Given the description of an element on the screen output the (x, y) to click on. 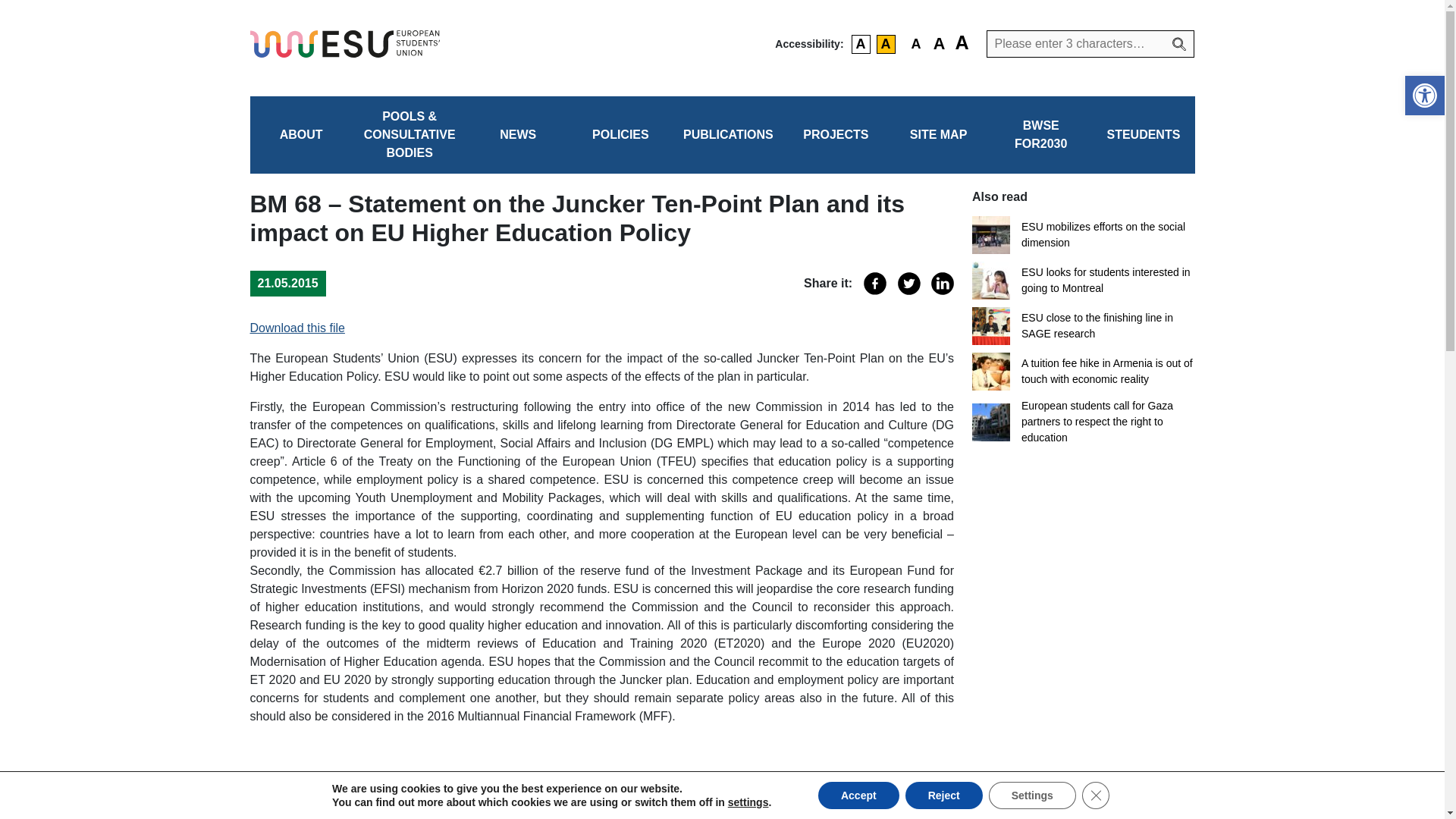
ABOUT (301, 134)
Accessibility Tools (1424, 95)
A (939, 44)
A (916, 44)
A (885, 44)
A (961, 44)
A (860, 44)
